Given the description of an element on the screen output the (x, y) to click on. 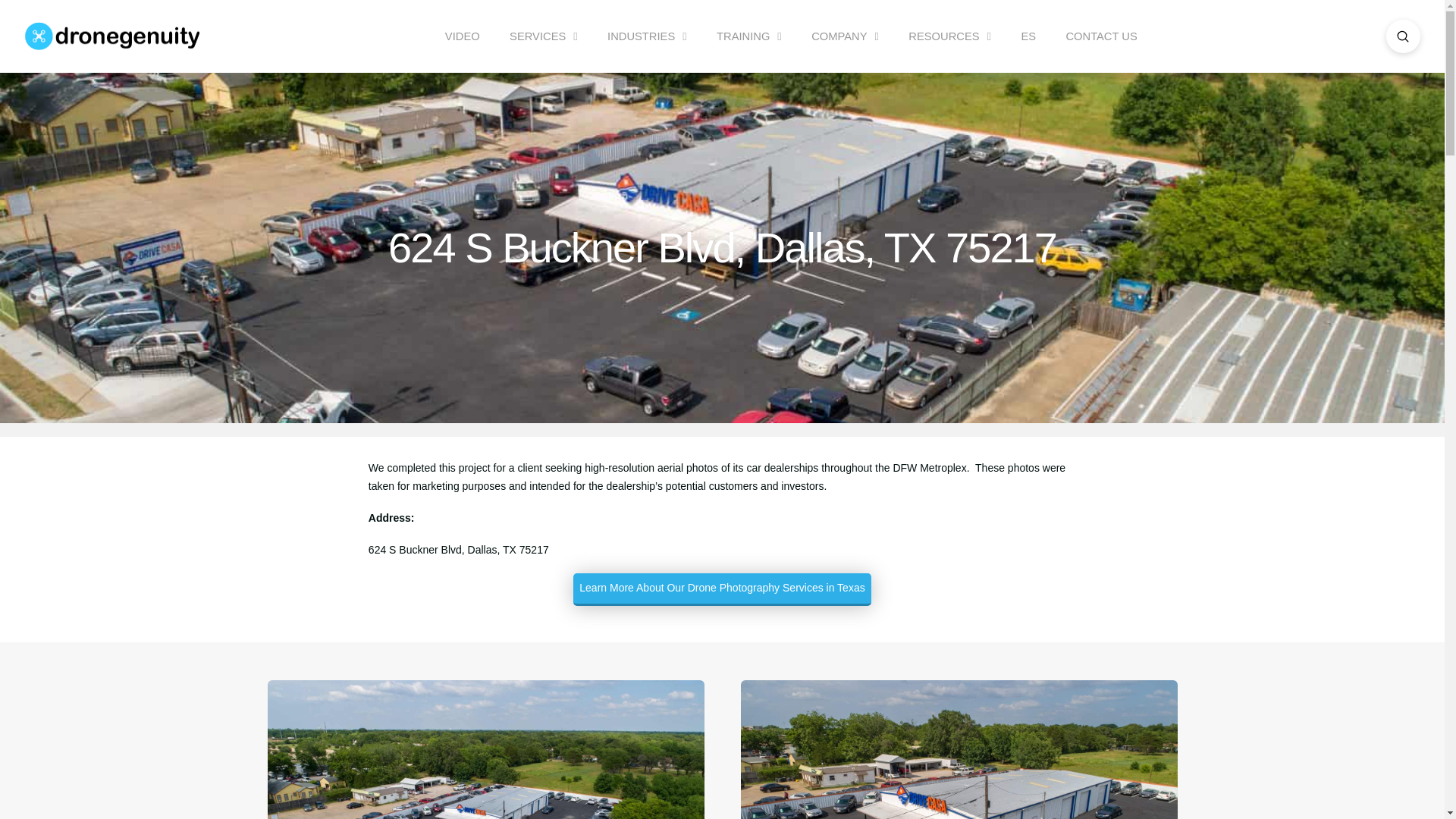
SERVICES (543, 36)
TRAINING (748, 36)
RESOURCES (949, 36)
INDUSTRIES (646, 36)
COMPANY (845, 36)
